Given the description of an element on the screen output the (x, y) to click on. 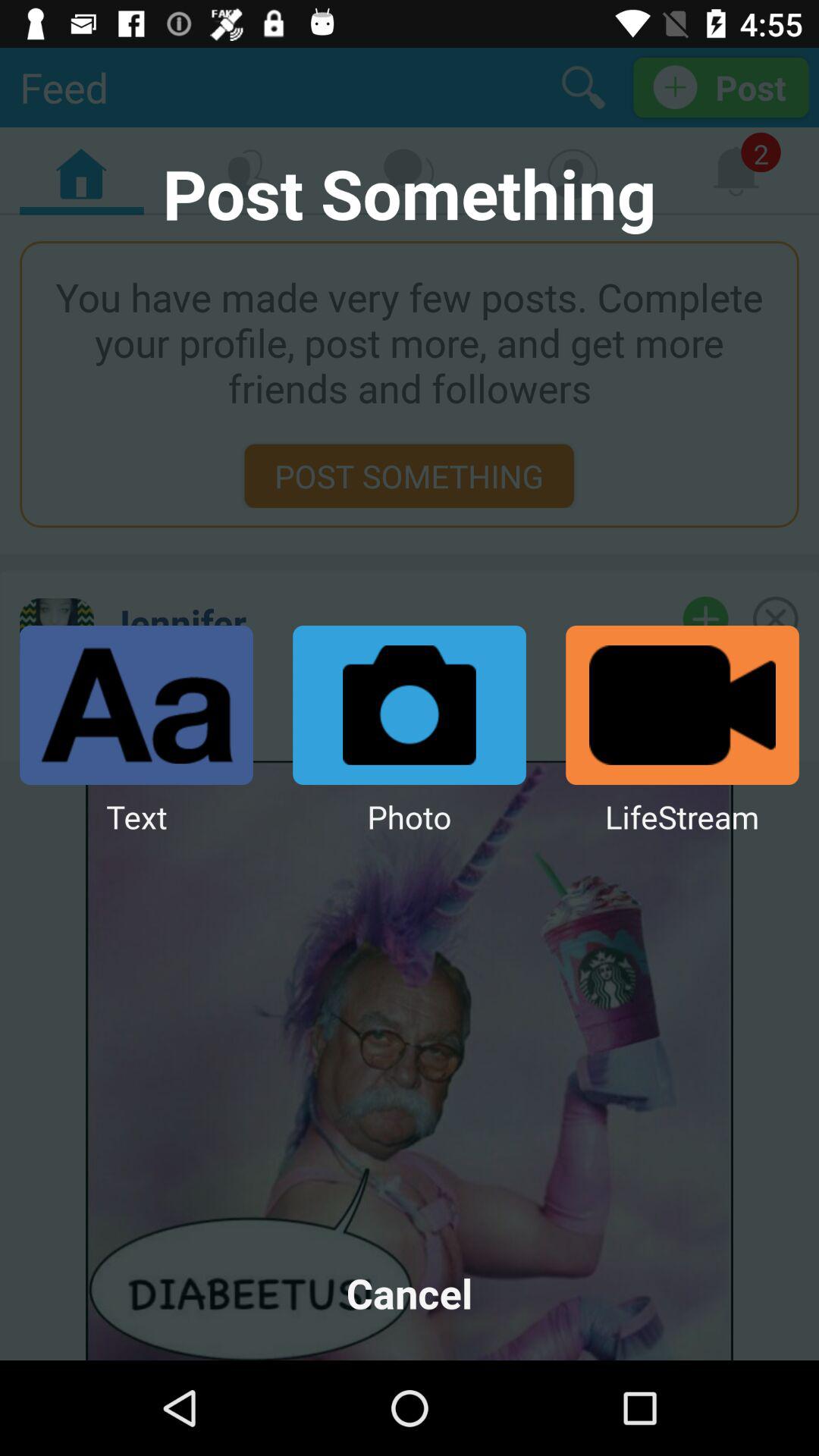
scroll until cancel item (409, 1292)
